Given the description of an element on the screen output the (x, y) to click on. 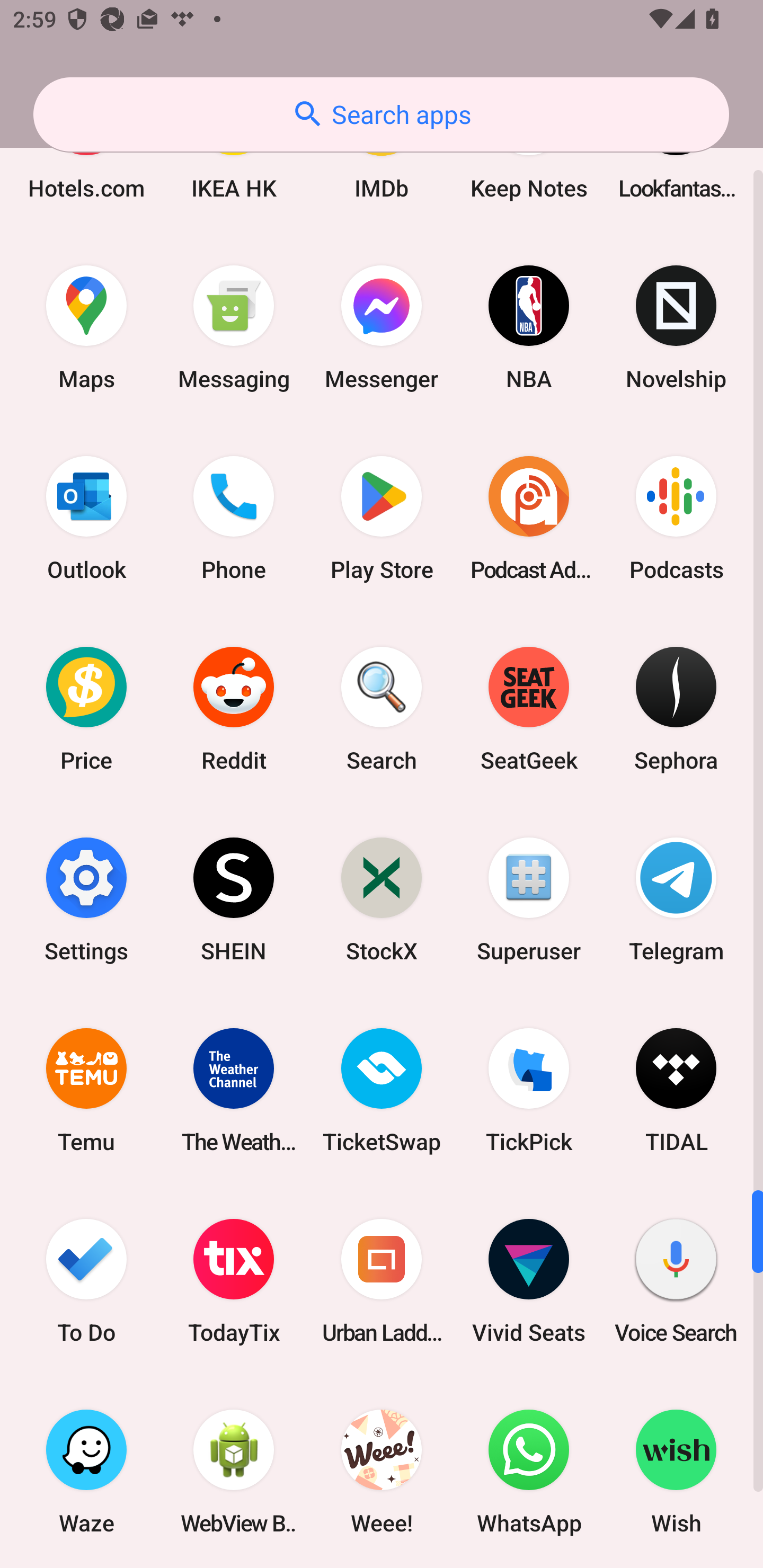
To Do (86, 1280)
